Given the description of an element on the screen output the (x, y) to click on. 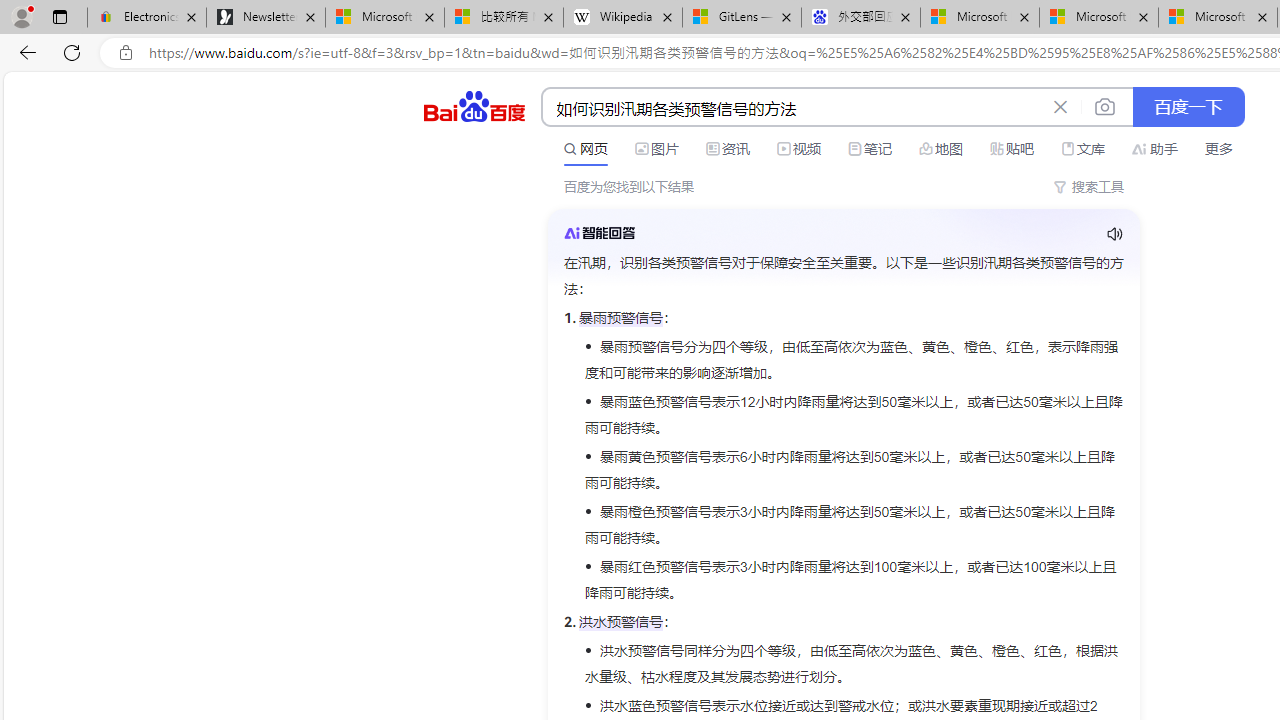
Class: img-light_7jMUg (599, 232)
Wikipedia (623, 17)
Newsletter Sign Up (266, 17)
